Given the description of an element on the screen output the (x, y) to click on. 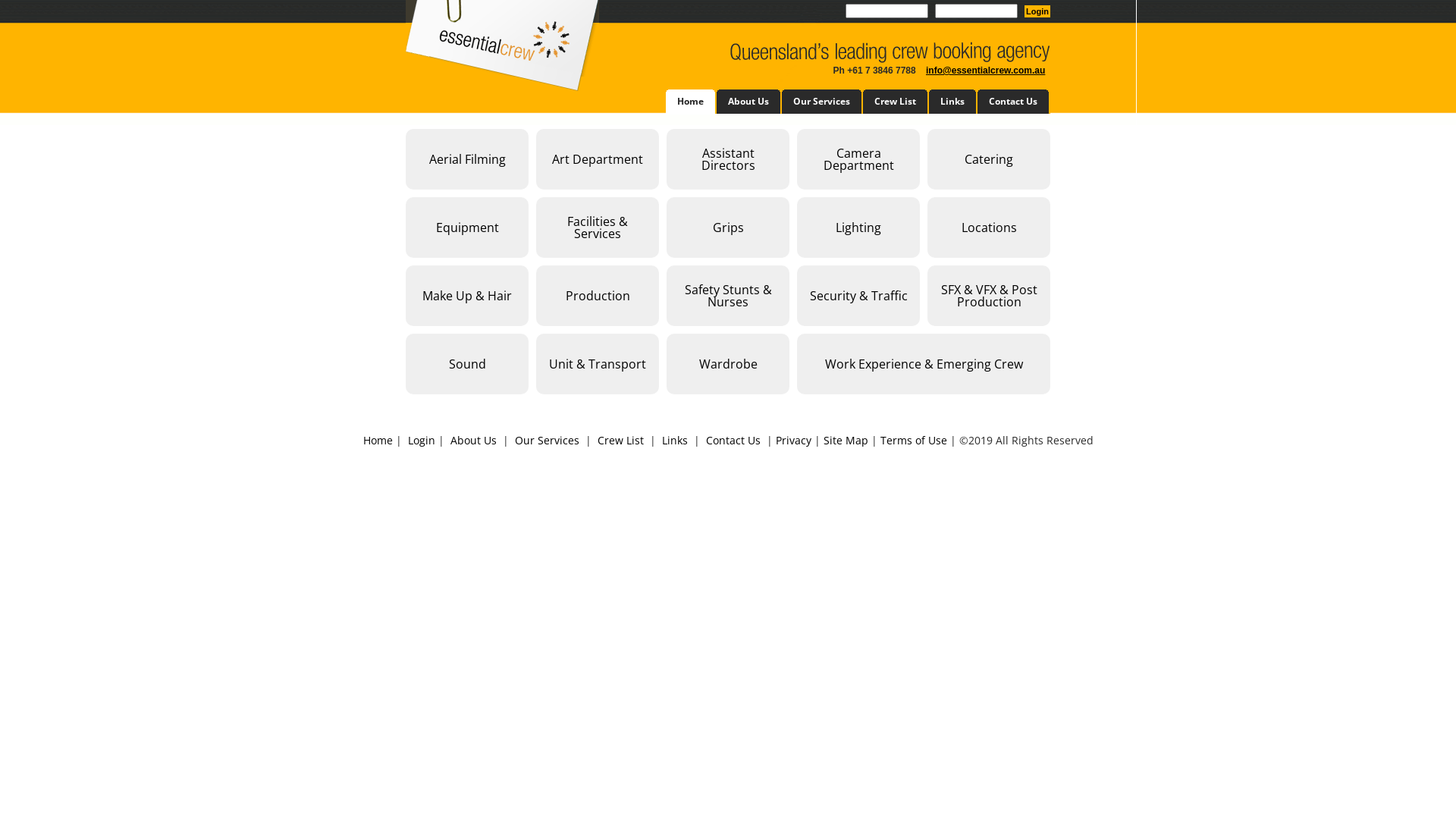
Our Services Element type: text (546, 440)
Wardrobe Element type: text (727, 363)
Links Element type: text (952, 101)
Links Element type: text (674, 440)
Assistant Directors Element type: text (727, 158)
Sound Element type: text (466, 363)
SFX & VFX & Post Production Element type: text (988, 295)
Security & Traffic Element type: text (858, 295)
Equipment Element type: text (466, 227)
About Us Element type: text (748, 101)
Contact Us Element type: text (1013, 101)
Login Element type: text (1037, 11)
info@essentialcrew.com.au Element type: text (984, 70)
Home Element type: text (690, 101)
Art Department Element type: text (597, 158)
Crew List Element type: text (620, 440)
Safety Stunts & Nurses Element type: text (727, 295)
Make Up & Hair Element type: text (466, 295)
Our Services Element type: text (821, 101)
About Us Element type: text (473, 440)
Camera Department Element type: text (858, 158)
Terms of Use Element type: text (912, 440)
Aerial Filming Element type: text (466, 158)
Work Experience & Emerging Crew Element type: text (923, 363)
Catering Element type: text (988, 158)
Login Element type: text (421, 440)
Crew List Element type: text (895, 101)
Contact Us Element type: text (732, 440)
Facilities & Services Element type: text (597, 227)
Grips Element type: text (727, 227)
Locations Element type: text (988, 227)
Home Element type: text (377, 440)
Unit & Transport Element type: text (597, 363)
Production Element type: text (597, 295)
Privacy Element type: text (792, 440)
Lighting Element type: text (858, 227)
Site Map Element type: text (845, 440)
